Given the description of an element on the screen output the (x, y) to click on. 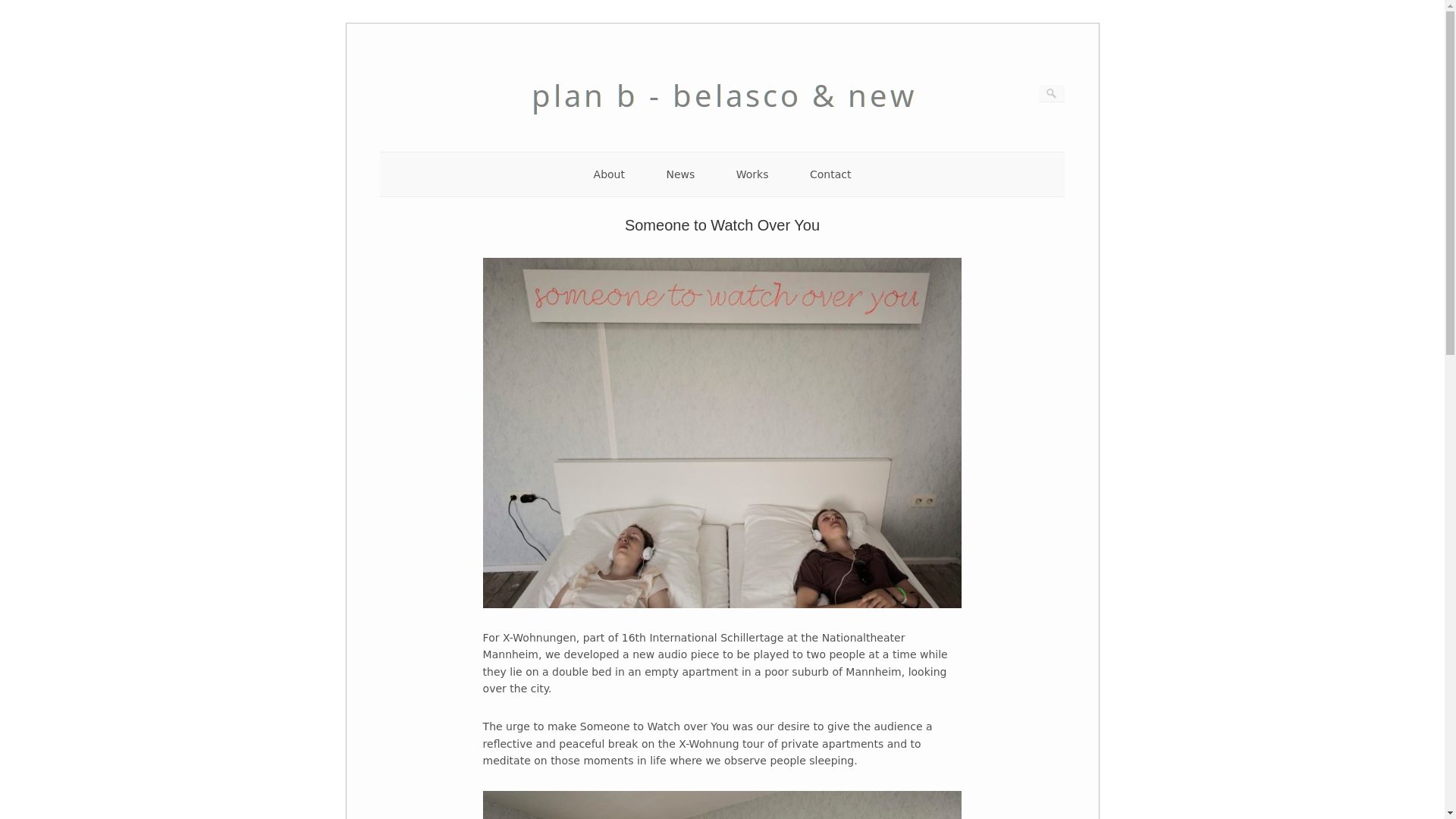
Search (21, 7)
Works (752, 174)
News (679, 174)
Sophia New and Daniel Belasco Rogers (722, 127)
About (609, 174)
